Given the description of an element on the screen output the (x, y) to click on. 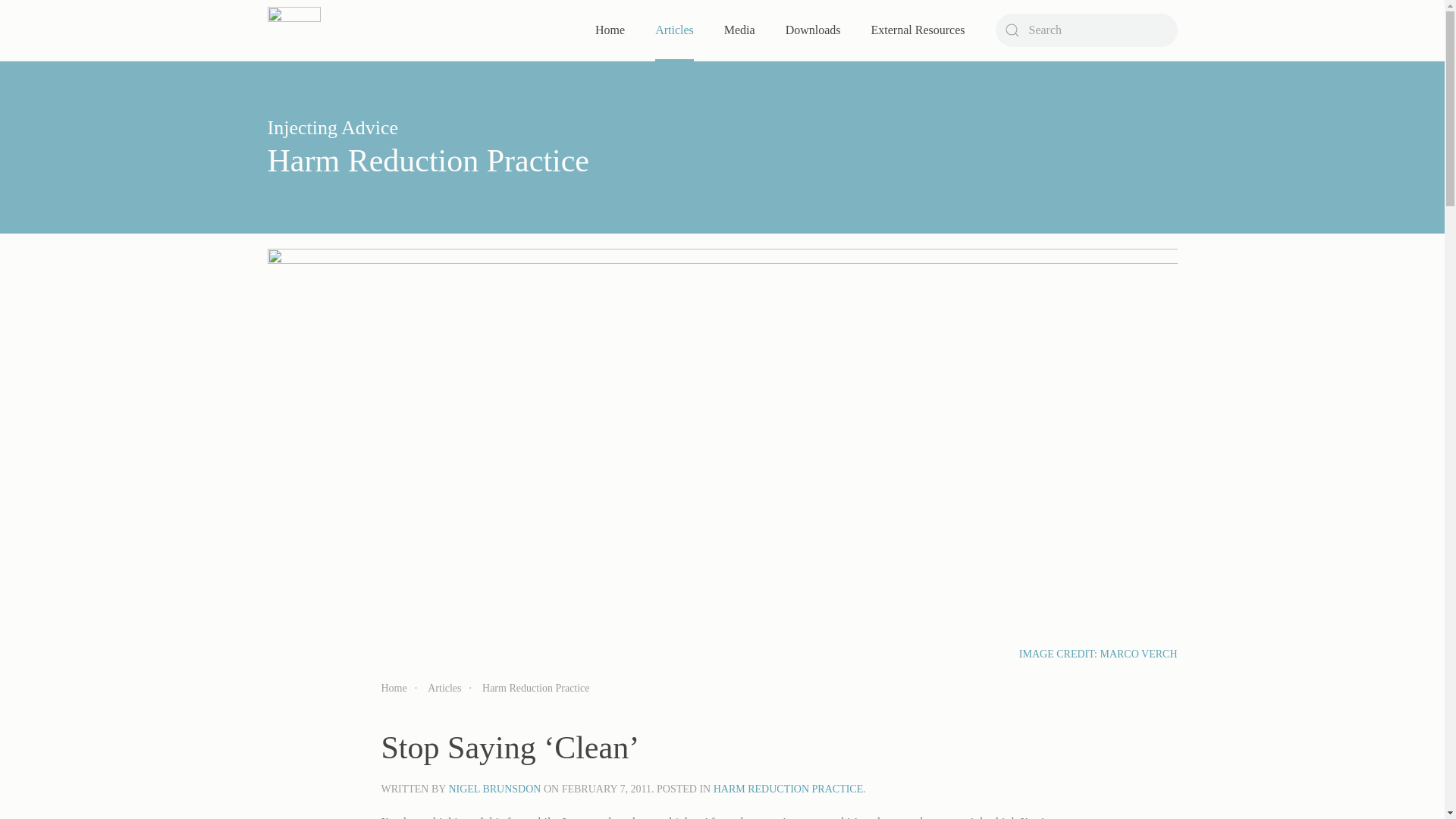
Articles (444, 687)
Harm Reduction Practice (535, 687)
Harm Reduction Practice (427, 160)
HARM REDUCTION PRACTICE (788, 788)
NIGEL BRUNSDON (494, 788)
External Resources (917, 30)
IMAGE CREDIT: MARCO VERCH (1098, 654)
Downloads (813, 30)
Home (393, 687)
